Given the description of an element on the screen output the (x, y) to click on. 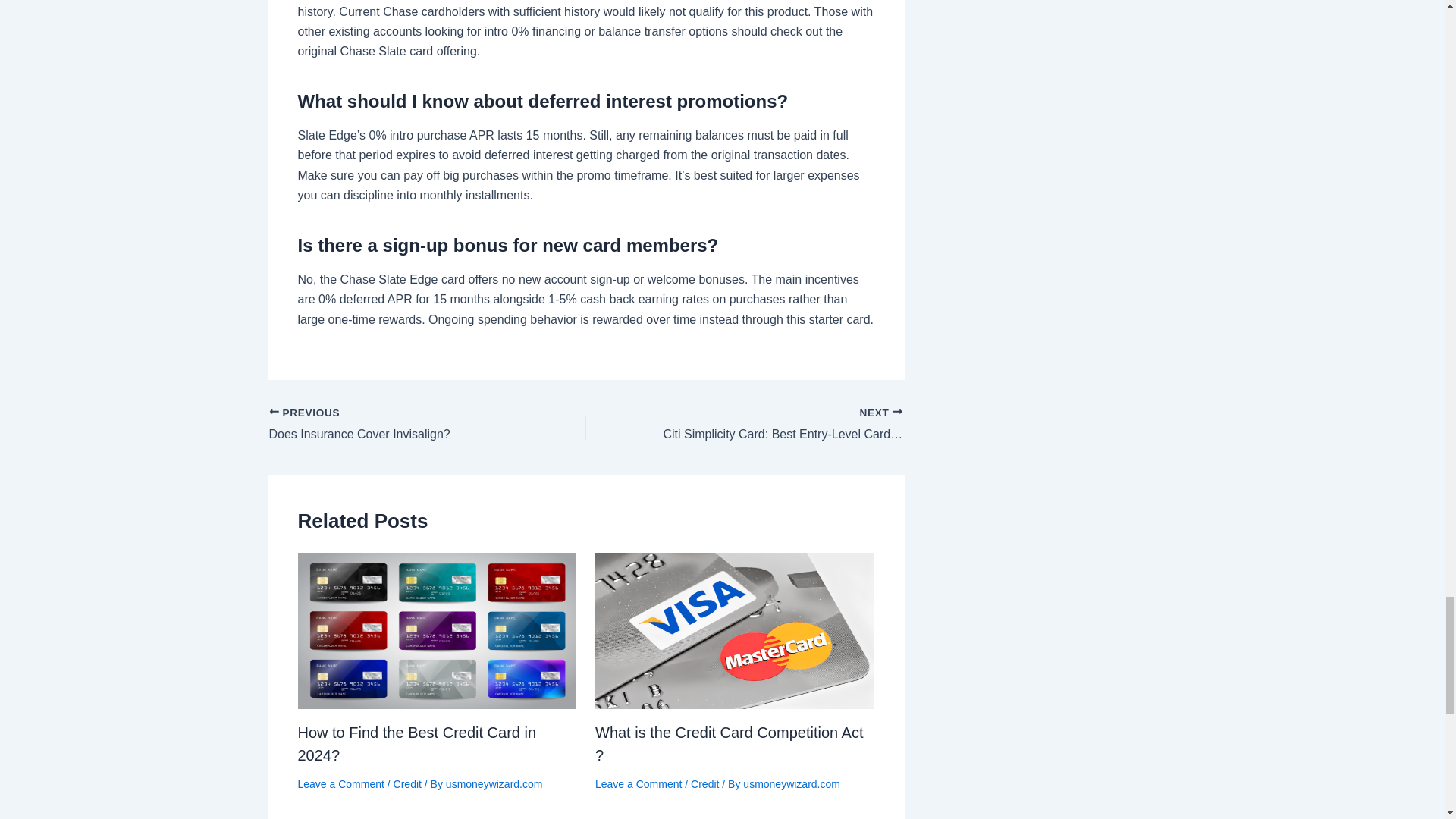
Citi Simplicity Card: Best Entry-Level Card in 2024! (774, 425)
View all posts by usmoneywizard.com (791, 784)
View all posts by usmoneywizard.com (494, 784)
Does Insurance Cover Invisalign? (394, 425)
